Given the description of an element on the screen output the (x, y) to click on. 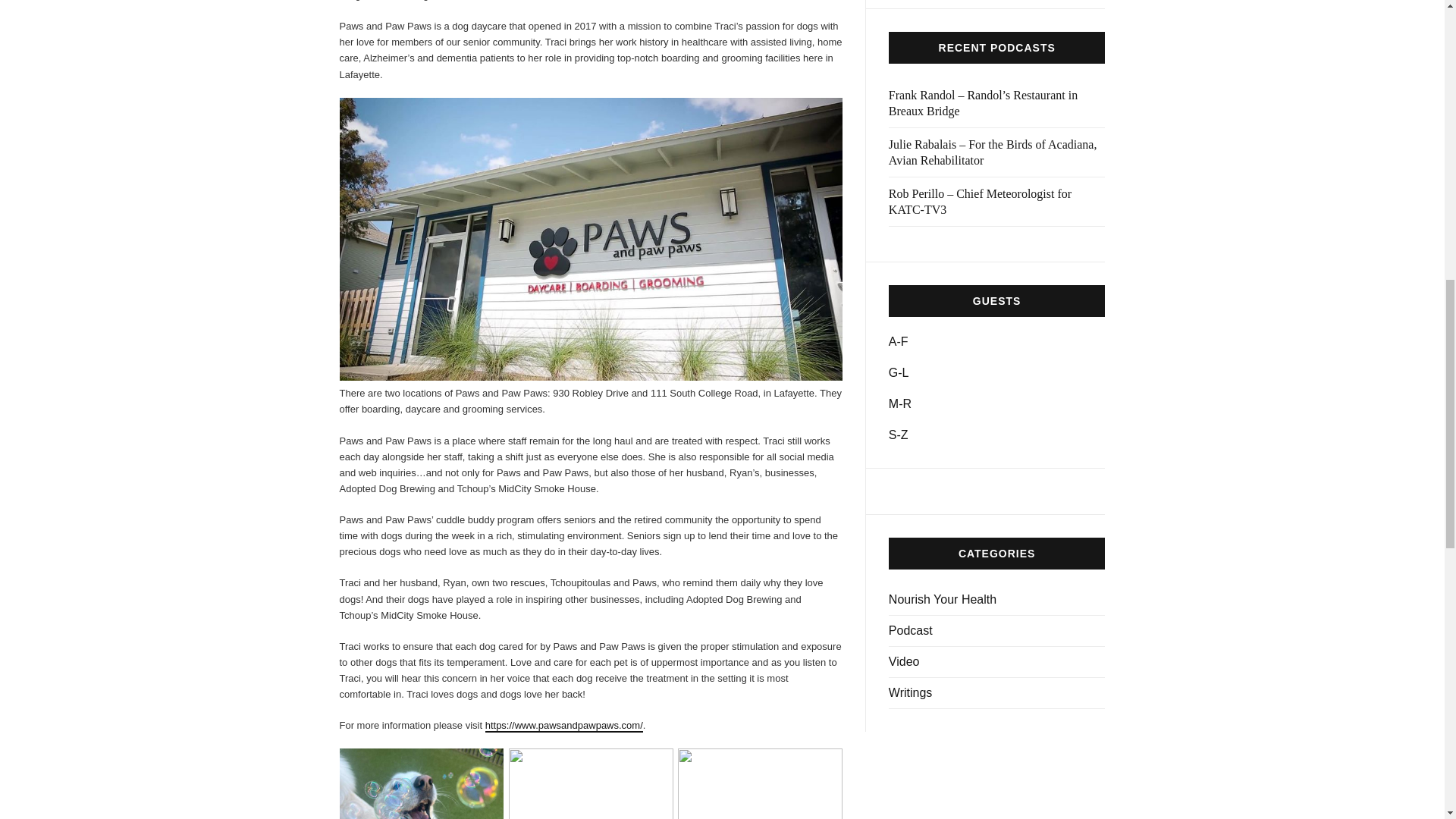
Nourish Your Health (996, 599)
M-R (899, 403)
S-Z (898, 434)
G-L (898, 372)
A-F (898, 341)
Writings (996, 693)
Podcast (996, 631)
Video (996, 662)
